Given the description of an element on the screen output the (x, y) to click on. 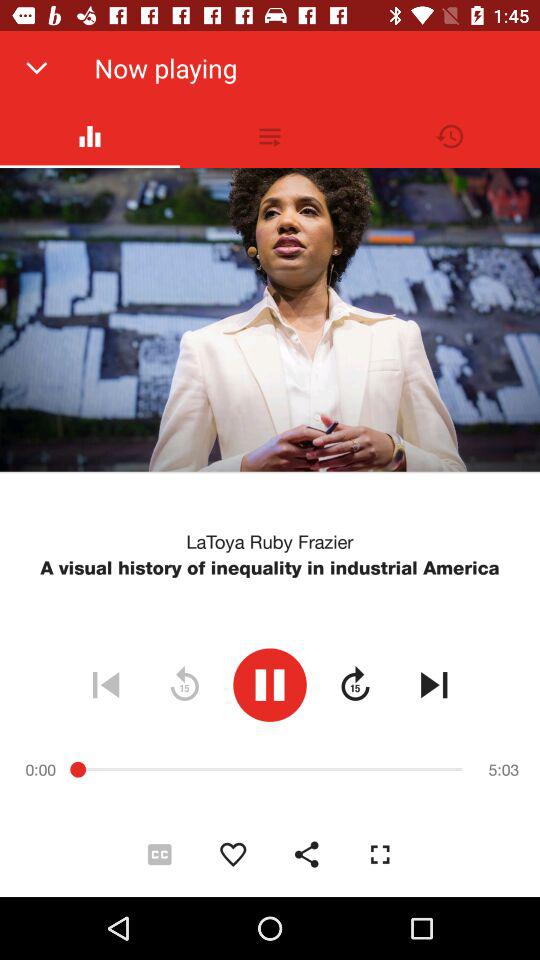
turn off the a visual history item (269, 568)
